Given the description of an element on the screen output the (x, y) to click on. 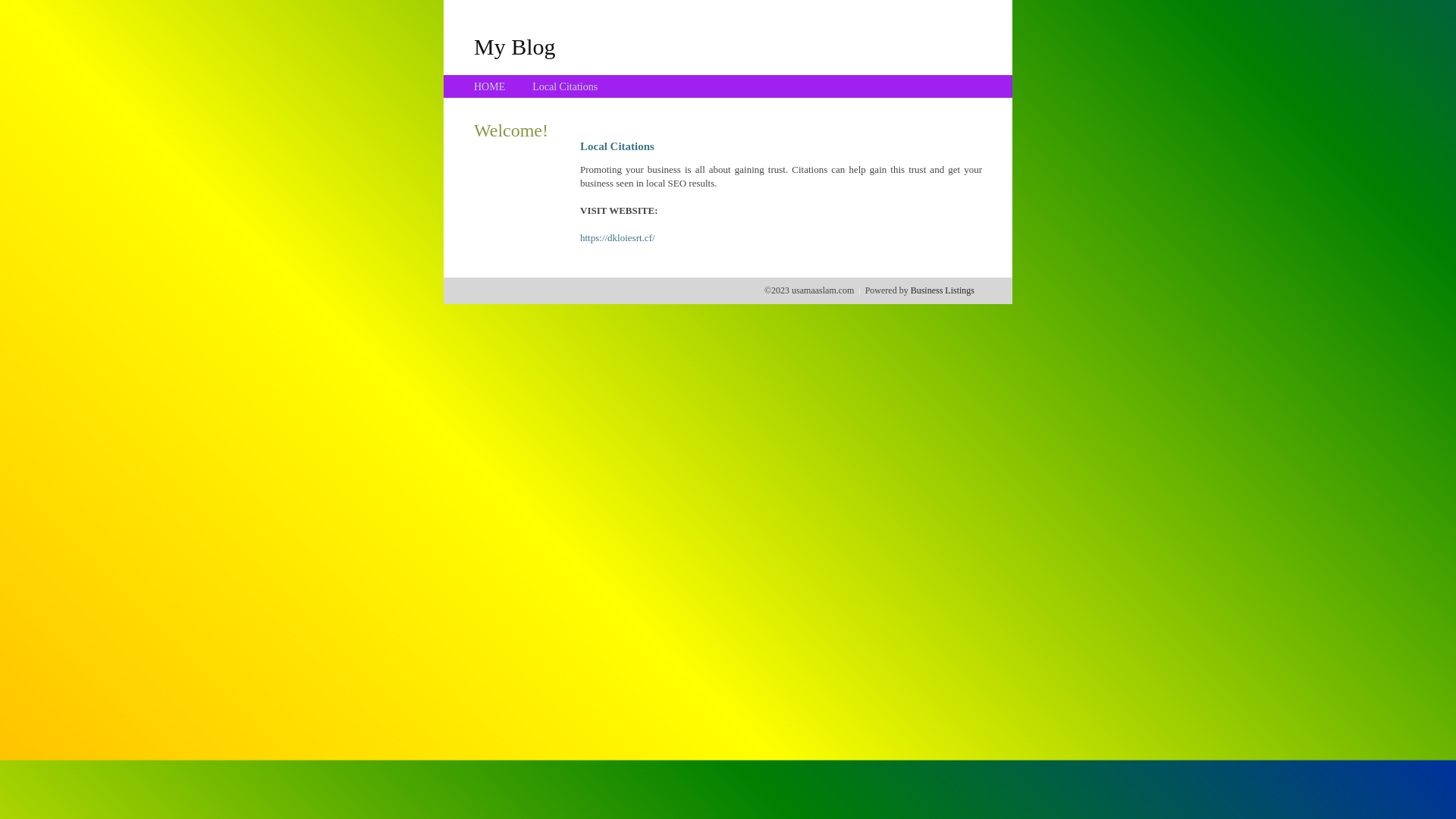
Business Listings Element type: text (942, 290)
https://dkloiesrt.cf/ Element type: text (617, 237)
Local Citations Element type: text (564, 86)
My Blog Element type: text (514, 46)
HOME Element type: text (489, 86)
